Given the description of an element on the screen output the (x, y) to click on. 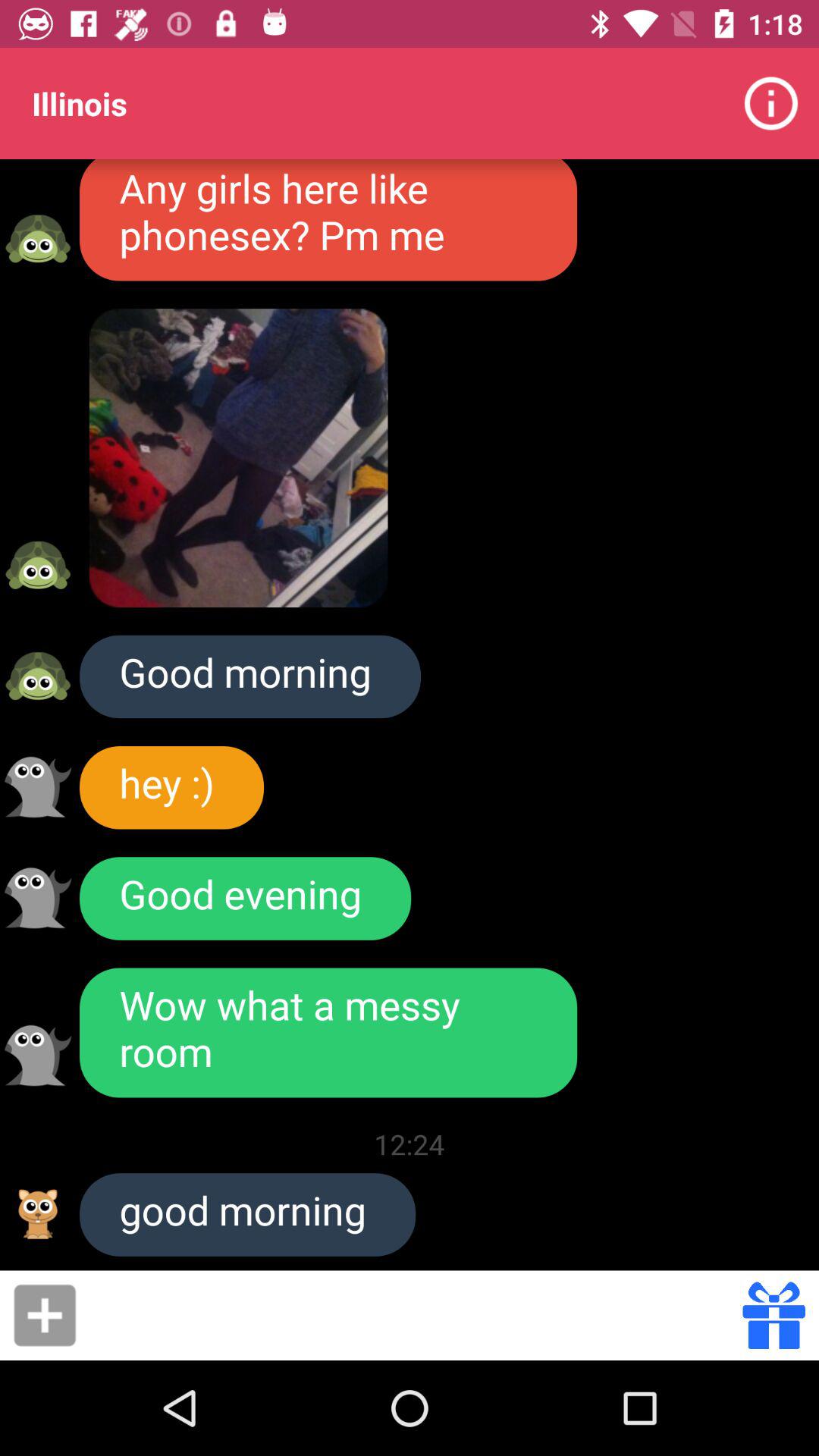
launch item at the top right corner (771, 103)
